Given the description of an element on the screen output the (x, y) to click on. 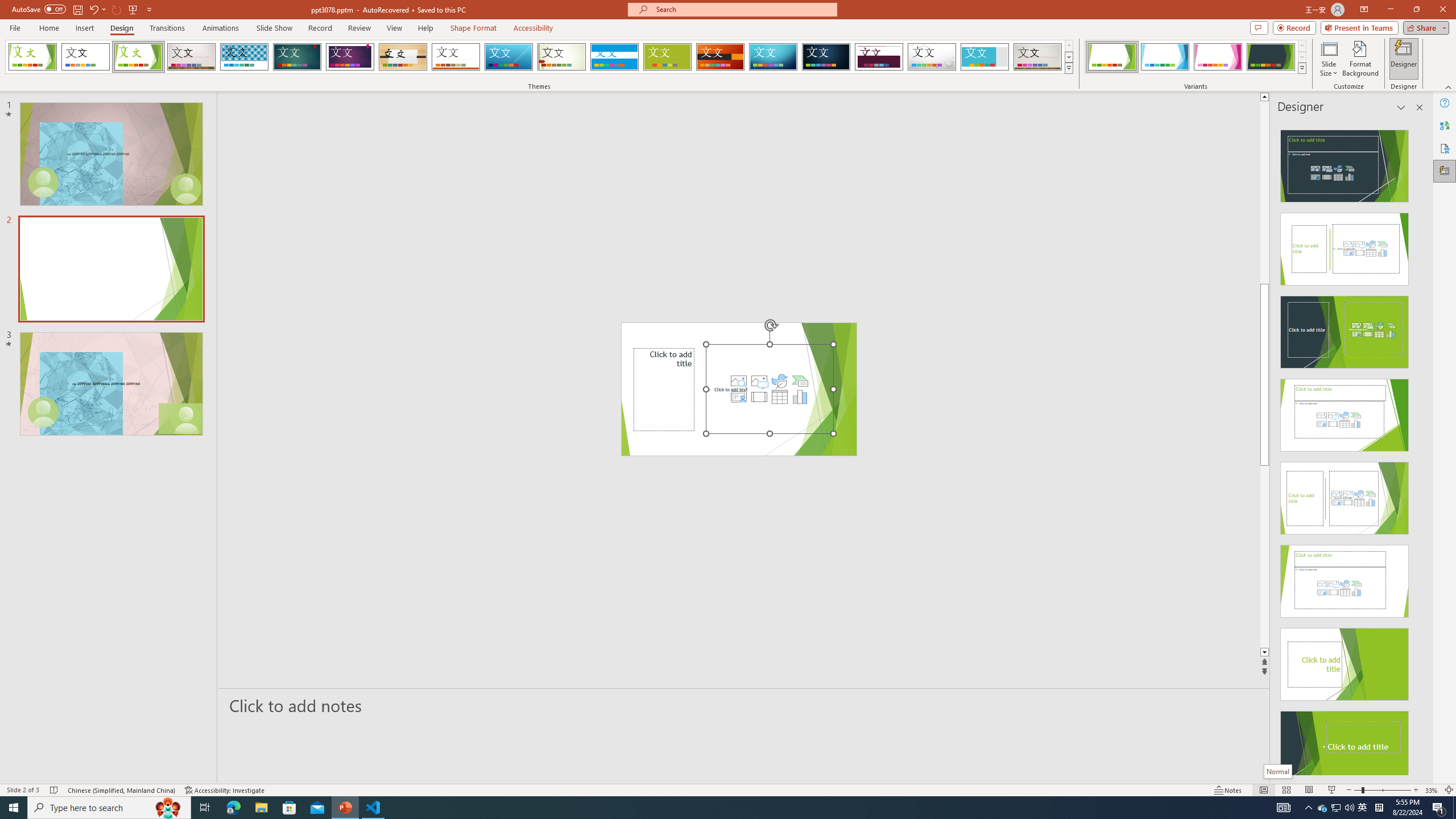
Circuit (772, 56)
Facet Variant 3 (1217, 56)
